Given the description of an element on the screen output the (x, y) to click on. 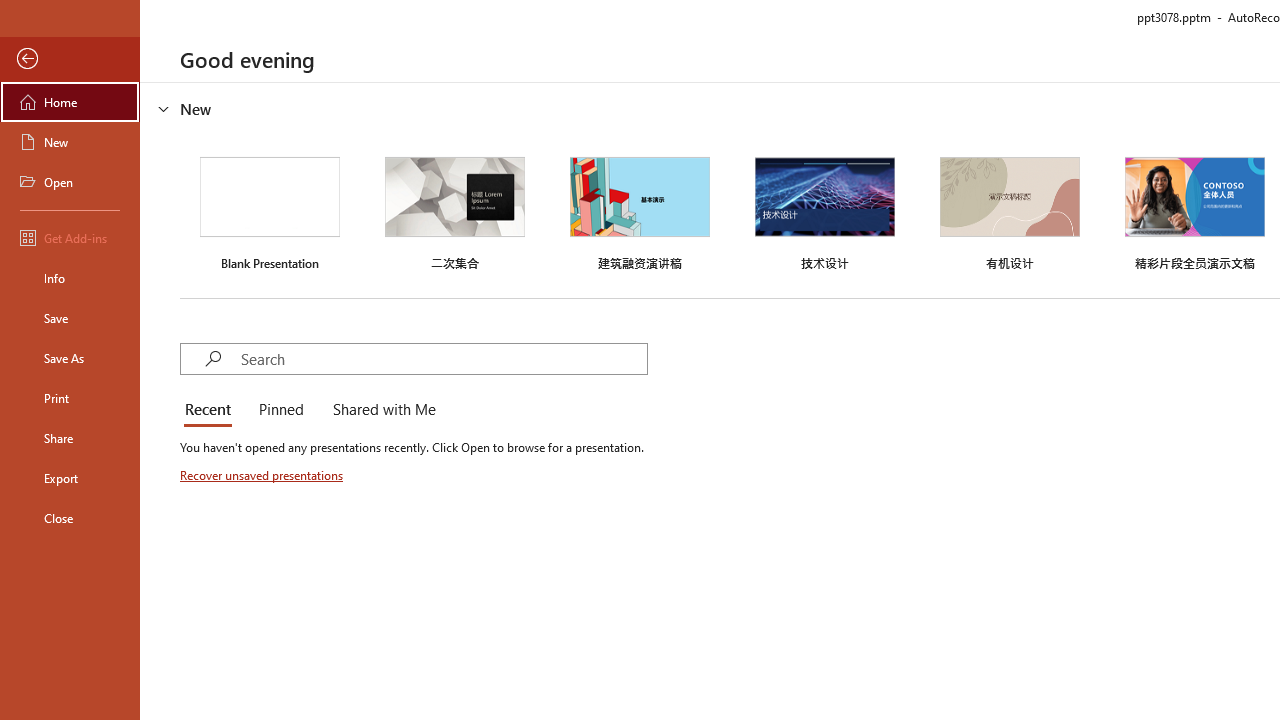
Get Add-ins (69, 237)
Shared with Me (379, 410)
Print (69, 398)
Recent (212, 410)
Blank Presentation (269, 211)
Recover unsaved presentations (263, 475)
Info (69, 277)
Save As (69, 357)
New (69, 141)
